Given the description of an element on the screen output the (x, y) to click on. 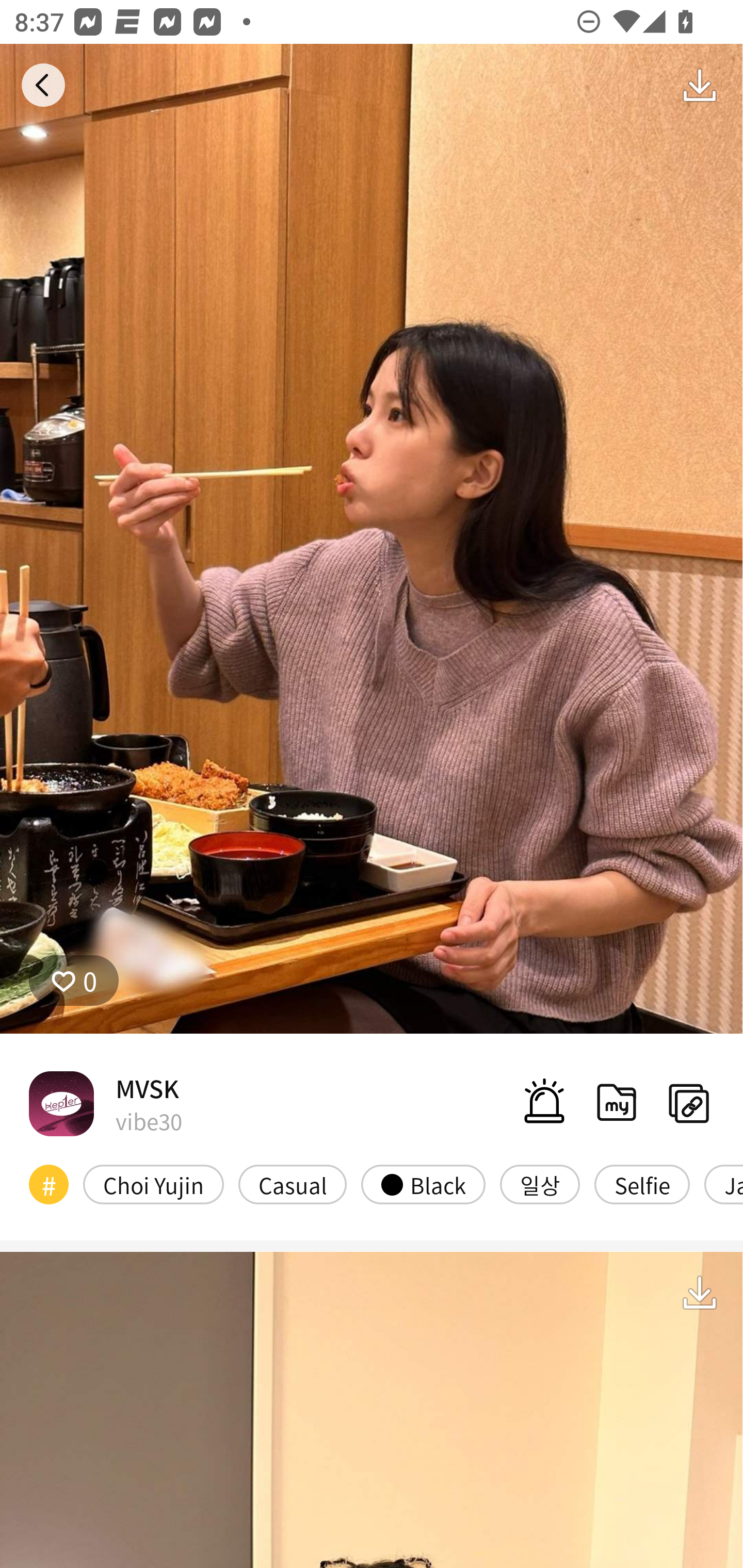
0 (73, 980)
MVSK vibe30 (105, 1102)
Choi Yujin (153, 1184)
Casual (292, 1184)
Black (423, 1184)
일상 (540, 1184)
Selfie (641, 1184)
